Given the description of an element on the screen output the (x, y) to click on. 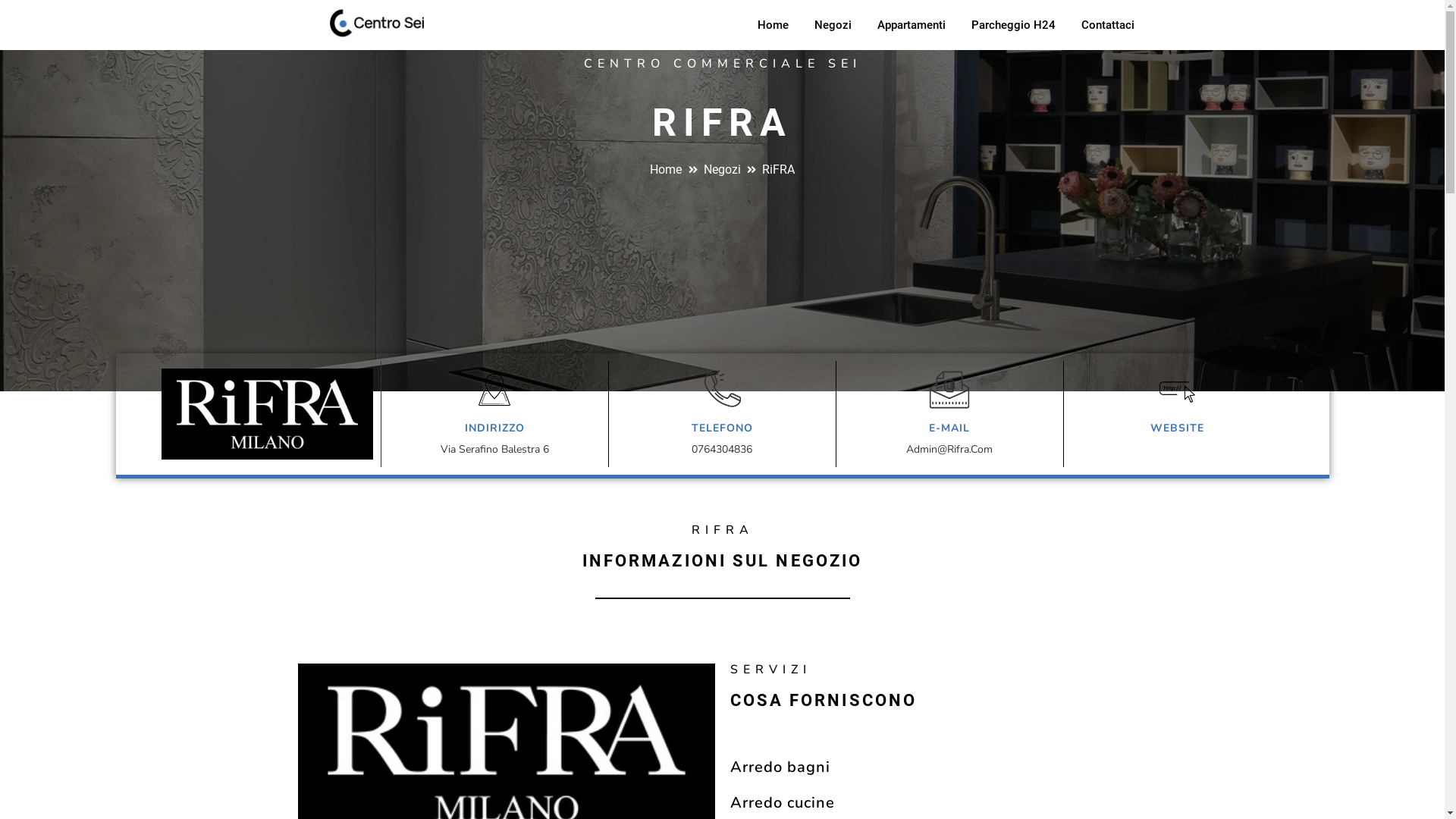
Negozi Element type: text (831, 24)
Contattaci Element type: text (1106, 24)
WEBSITE Element type: text (1177, 427)
E-MAIL Element type: text (948, 427)
Home Element type: text (772, 24)
Home Element type: text (665, 169)
Parcheggio H24 Element type: text (1013, 24)
Negozi Element type: text (713, 169)
Appartamenti Element type: text (911, 24)
